Given the description of an element on the screen output the (x, y) to click on. 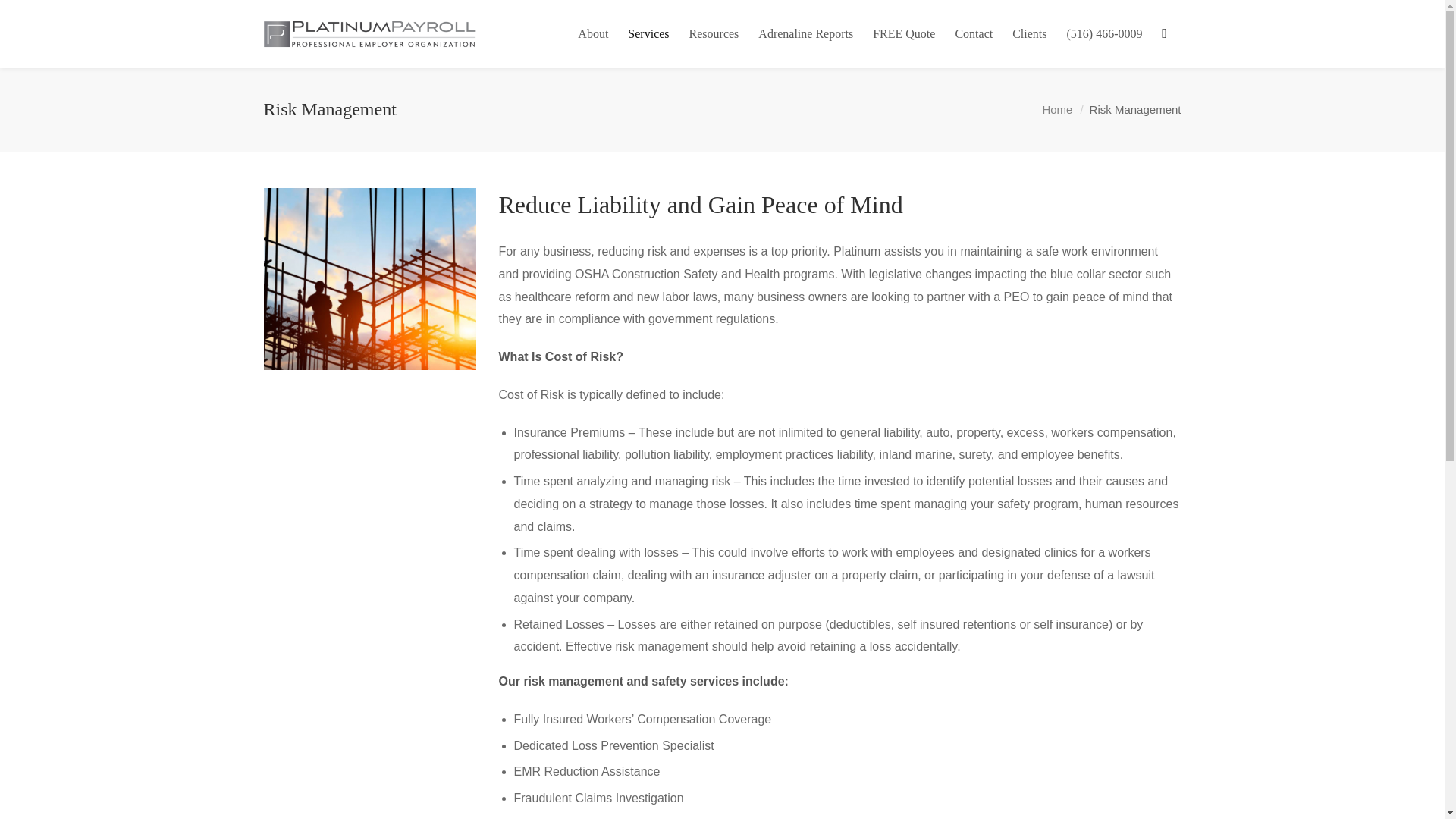
Adrenaline Reports (805, 33)
FREE Quote (903, 33)
Resources (714, 33)
Services (647, 33)
